Given the description of an element on the screen output the (x, y) to click on. 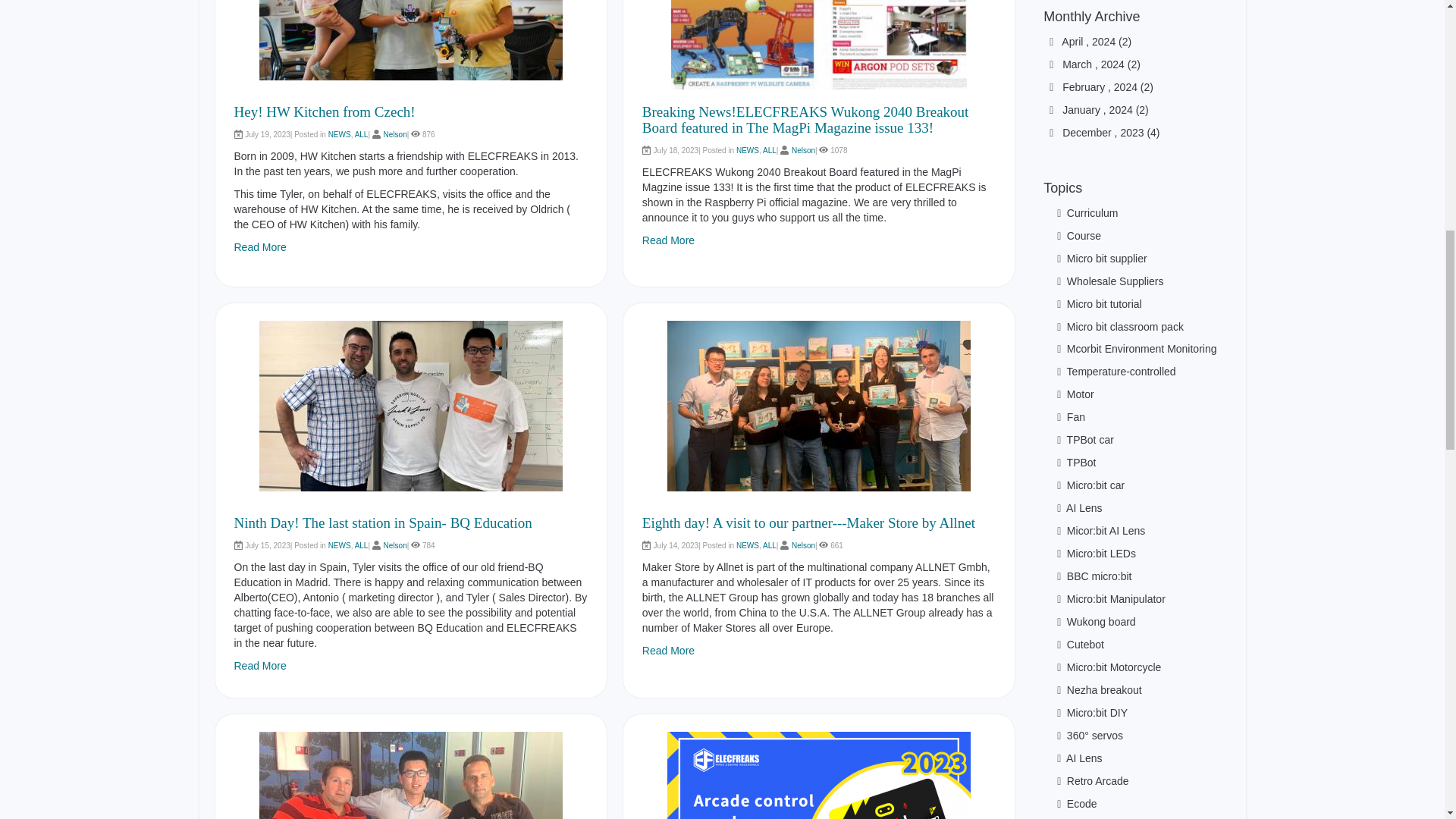
Hey! HW Kitchen from Czech! (323, 111)
